Given the description of an element on the screen output the (x, y) to click on. 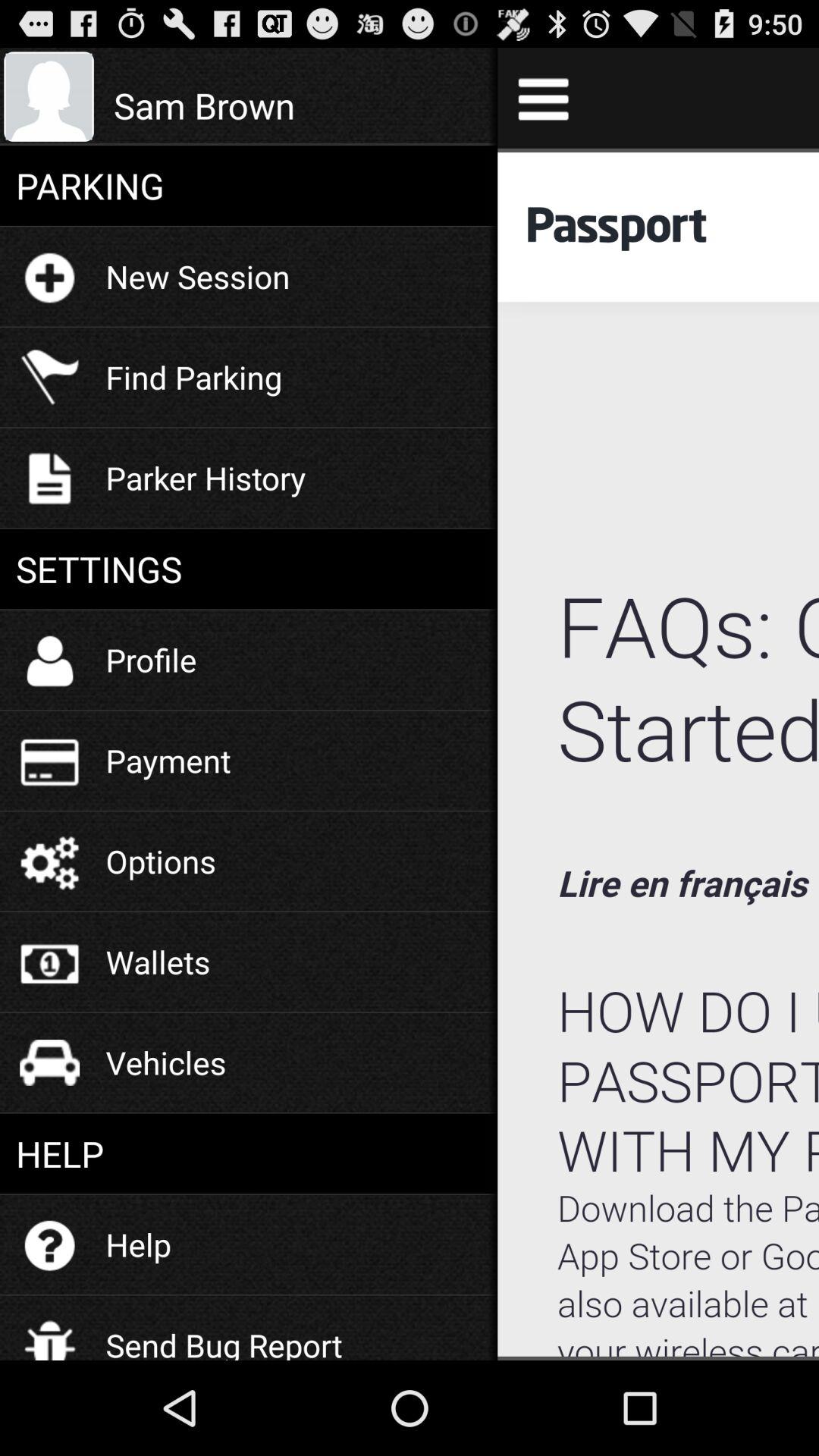
turn on the item below the payment icon (160, 860)
